Given the description of an element on the screen output the (x, y) to click on. 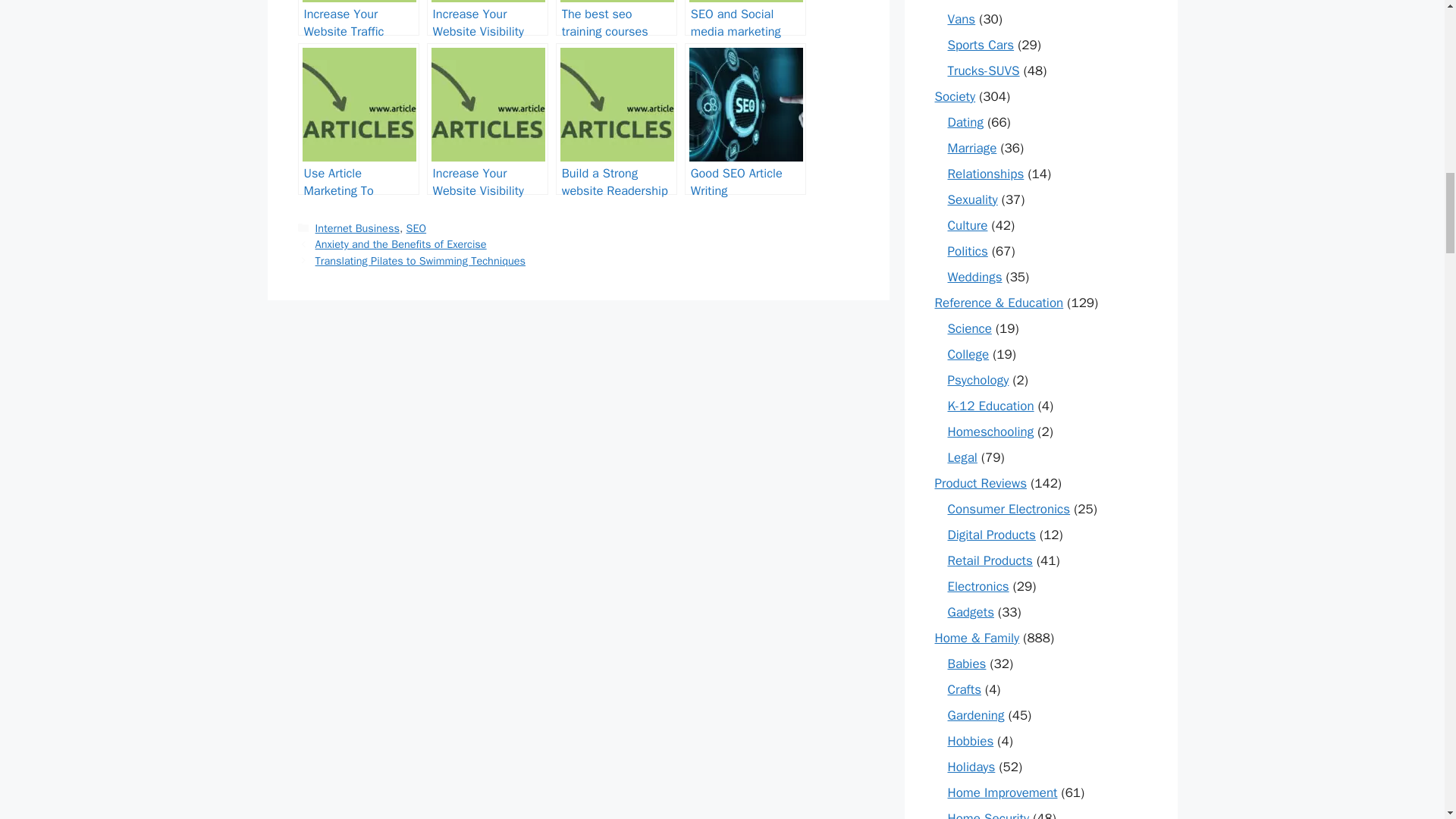
The best seo training courses india for a perky career (616, 18)
Internet Business (356, 228)
Increase Your Website Traffic through a Leading SEO company (358, 18)
Anxiety and the Benefits of Exercise (400, 243)
SEO (416, 228)
Increase Your Website Traffic through a Leading SEO company (358, 18)
The best seo training courses india for a perky career (616, 18)
Increase Your Website Visibility with a Primed SEO Company (487, 18)
Translating Pilates to Swimming Techniques (420, 260)
